Given the description of an element on the screen output the (x, y) to click on. 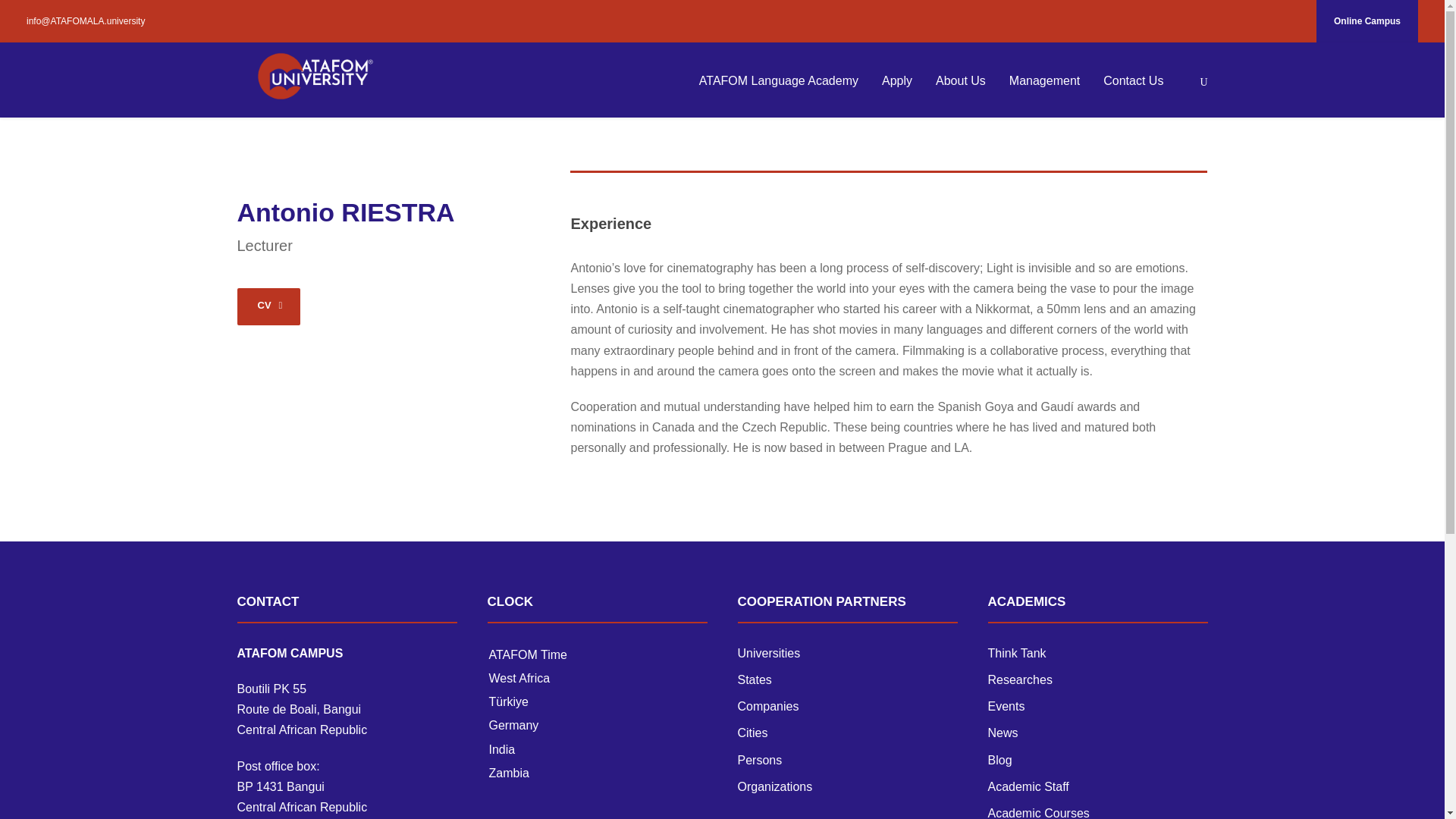
CV (267, 306)
ATAFOM Language Academy (778, 93)
Think Tank (1016, 653)
Academic Courses (1038, 812)
Contact Us (1133, 93)
Events (1006, 706)
Apply (897, 93)
Online Campus (1367, 21)
Organizations (774, 786)
Companies (766, 706)
Persons (758, 759)
States (753, 679)
Cities (751, 732)
Management (1044, 93)
Researches (1019, 679)
